Given the description of an element on the screen output the (x, y) to click on. 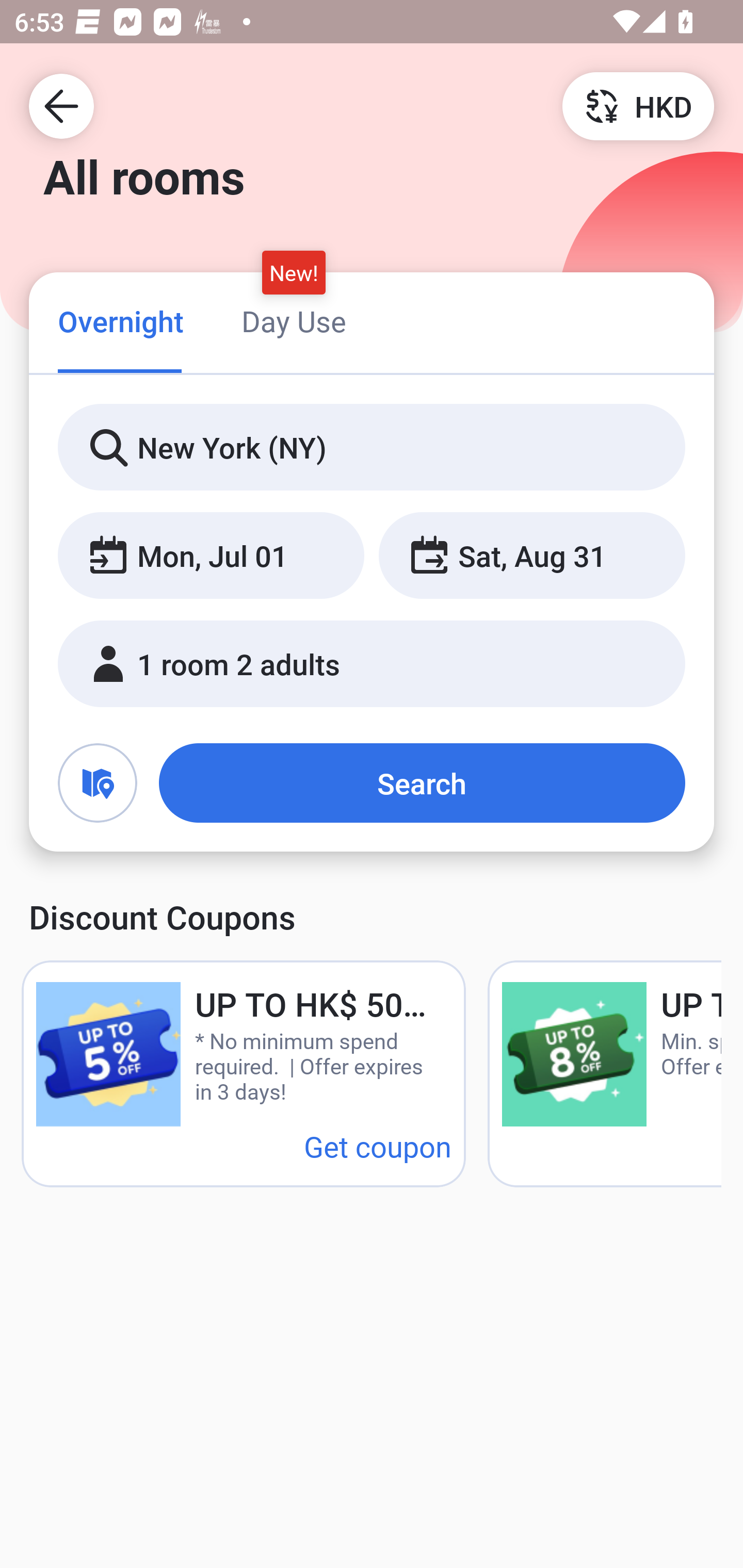
HKD (638, 105)
New! (294, 272)
Day Use (293, 321)
New York (NY) (371, 447)
Mon, Jul 01 (210, 555)
Sat, Aug 31 (531, 555)
1 room 2 adults (371, 663)
Search (422, 783)
Get coupon (377, 1146)
